Given the description of an element on the screen output the (x, y) to click on. 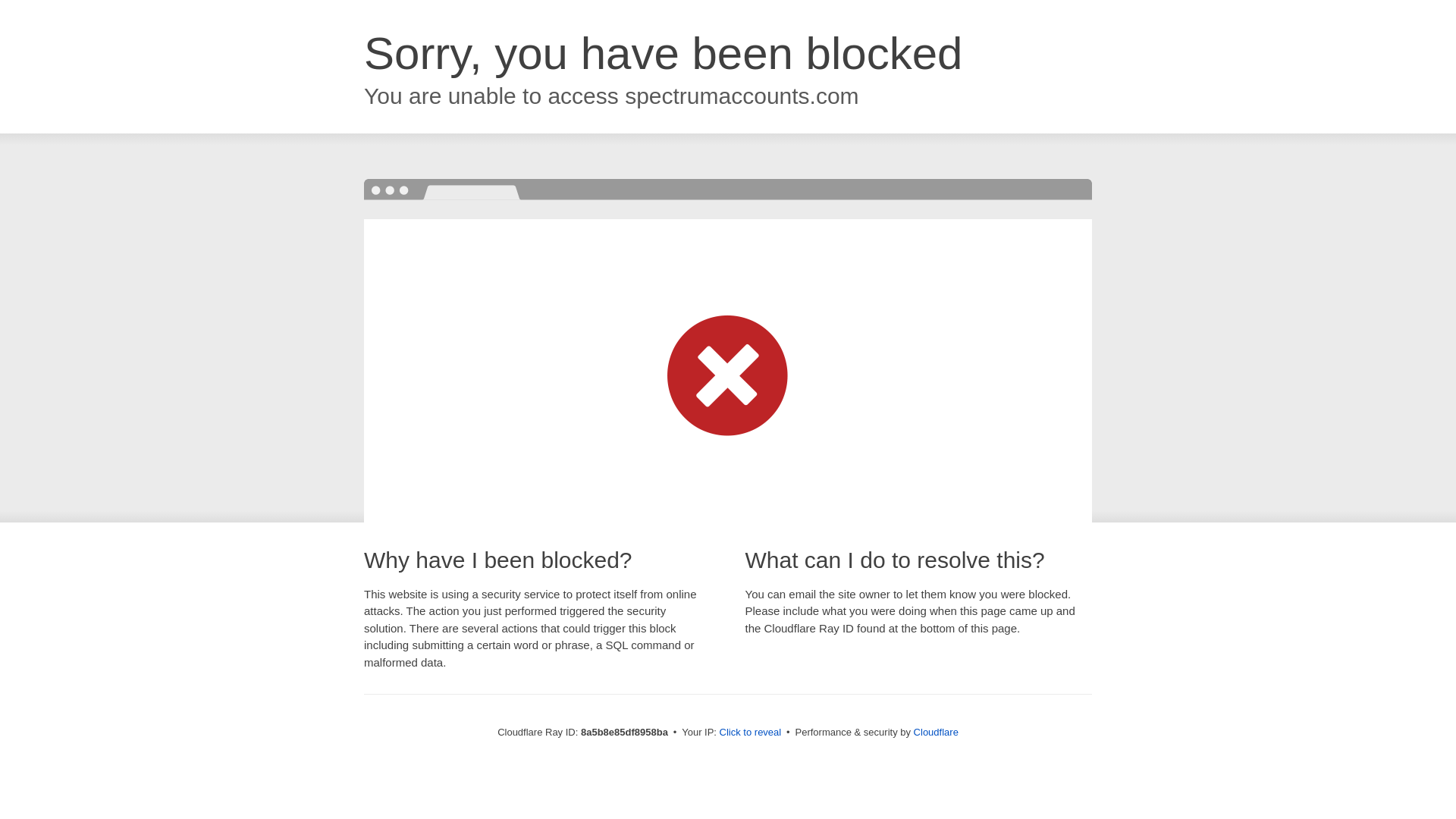
Click to reveal (750, 732)
Cloudflare (936, 731)
